Given the description of an element on the screen output the (x, y) to click on. 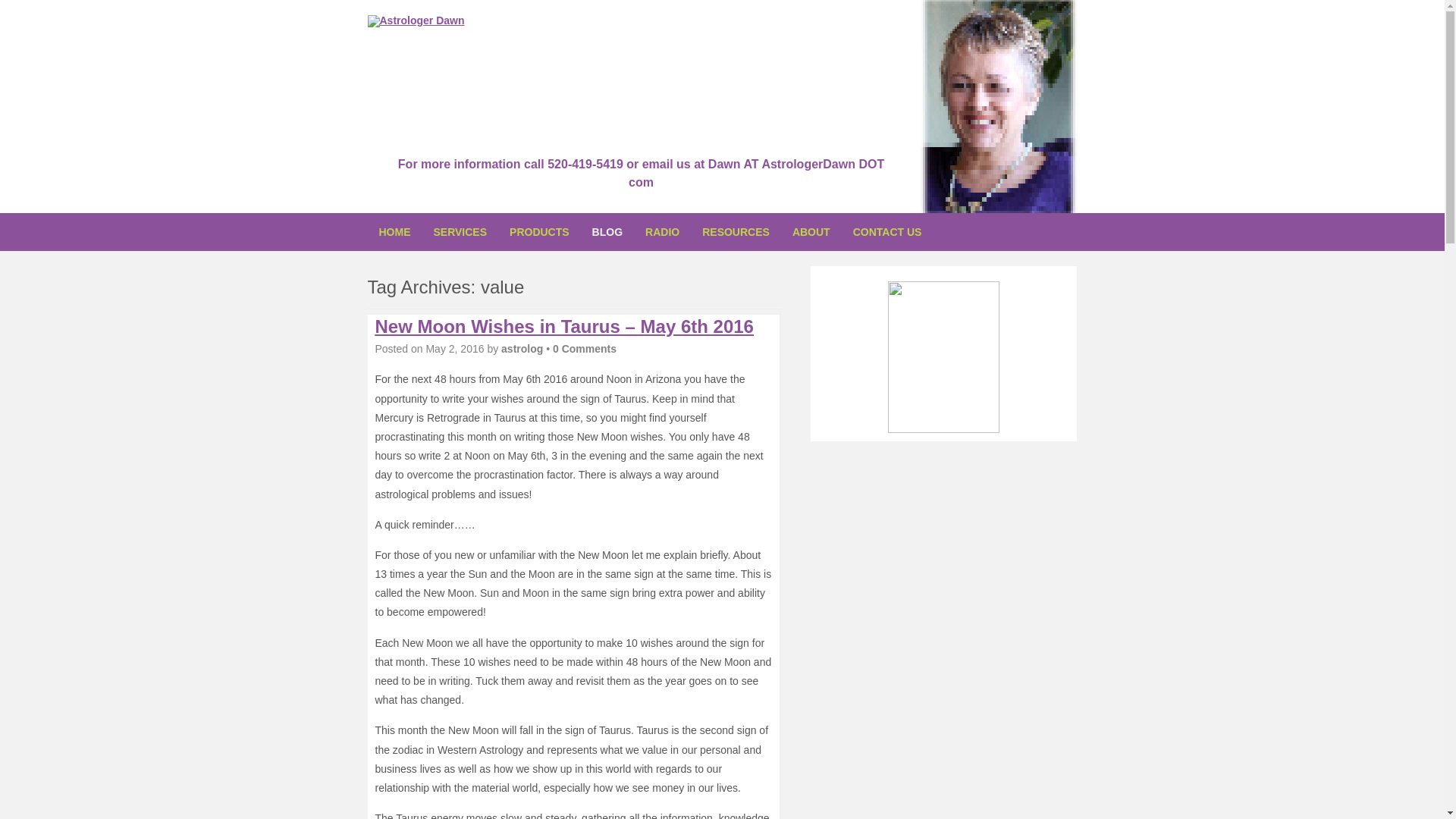
RESOURCES (735, 231)
PRODUCTS (538, 231)
ABOUT (810, 231)
BLOG (606, 231)
CONTACT US (887, 231)
HOME (394, 231)
RADIO (661, 231)
0 Comments (584, 348)
View all posts by astrolog (521, 348)
astrolog (521, 348)
SERVICES (459, 231)
